Given the description of an element on the screen output the (x, y) to click on. 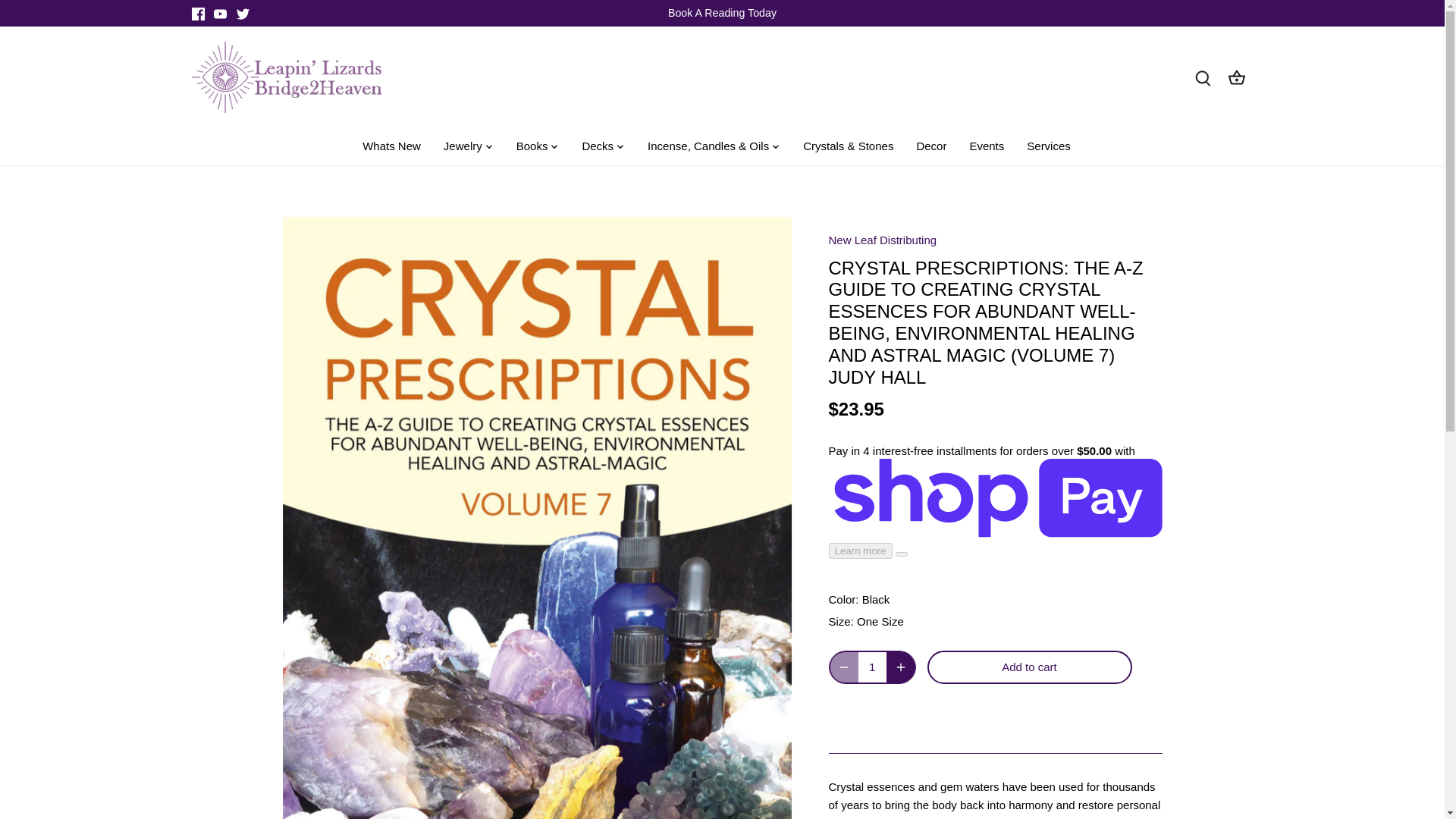
1 (872, 667)
Book A Reading Today (722, 12)
Jewelry (462, 146)
Youtube (220, 13)
Facebook (196, 13)
Books (532, 146)
Twitter (241, 13)
Decks (597, 146)
Whats New (397, 146)
